Given the description of an element on the screen output the (x, y) to click on. 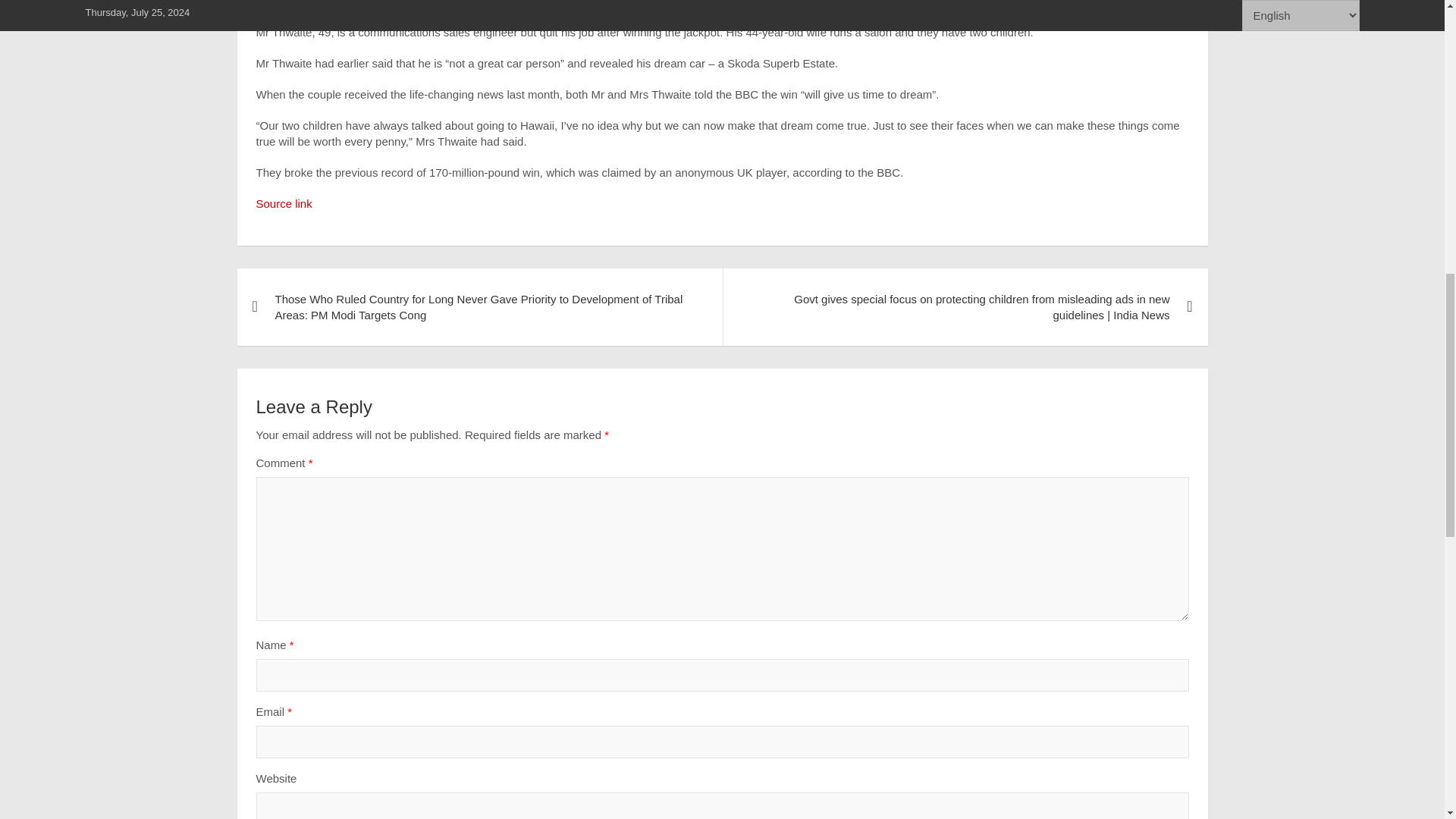
Source link (284, 203)
